Given the description of an element on the screen output the (x, y) to click on. 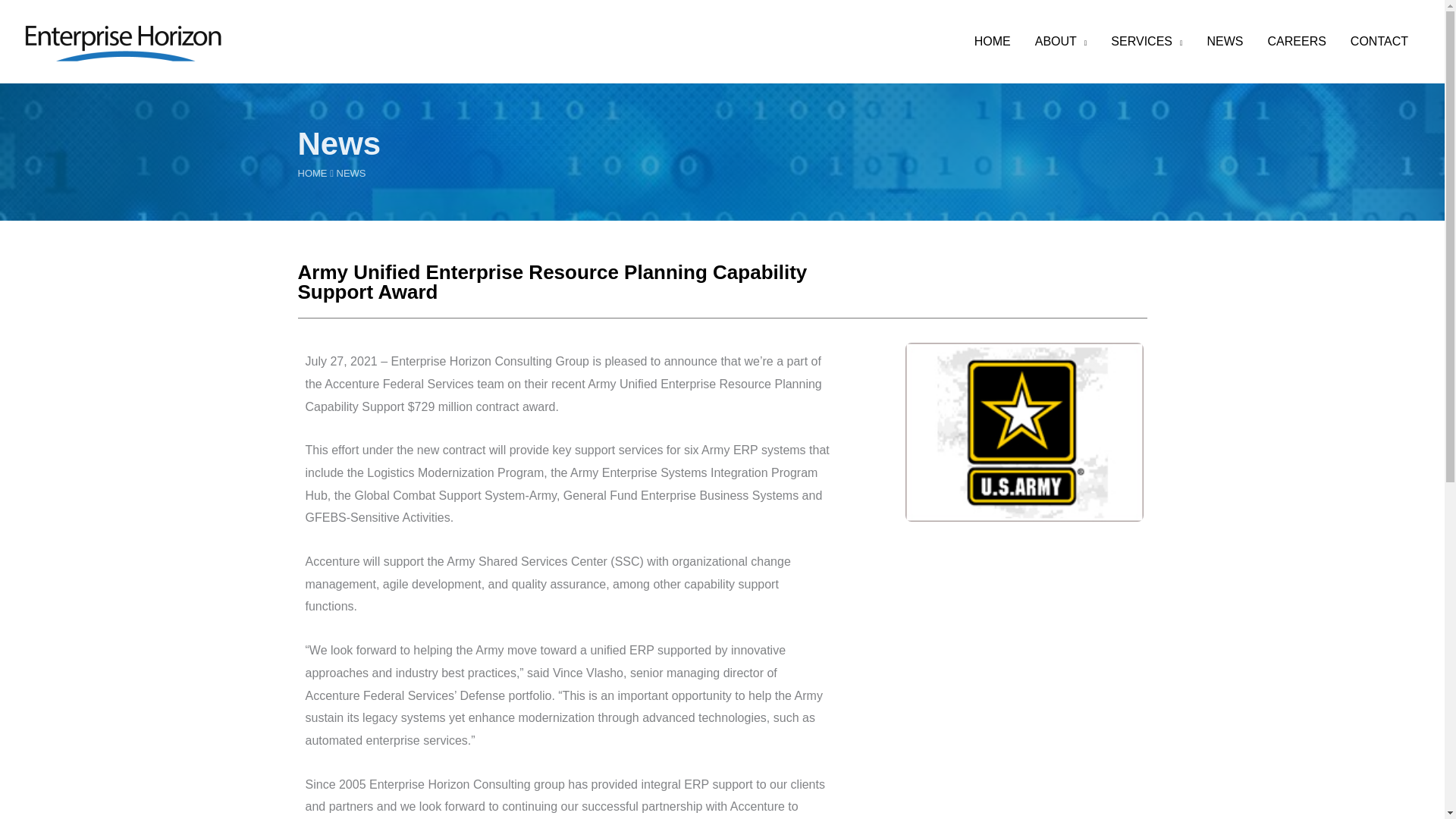
SERVICES (1146, 41)
NEWS (1225, 41)
HOME (992, 41)
CONTACT (1379, 41)
CAREERS (1296, 41)
HOME (311, 173)
ABOUT (1061, 41)
